Given the description of an element on the screen output the (x, y) to click on. 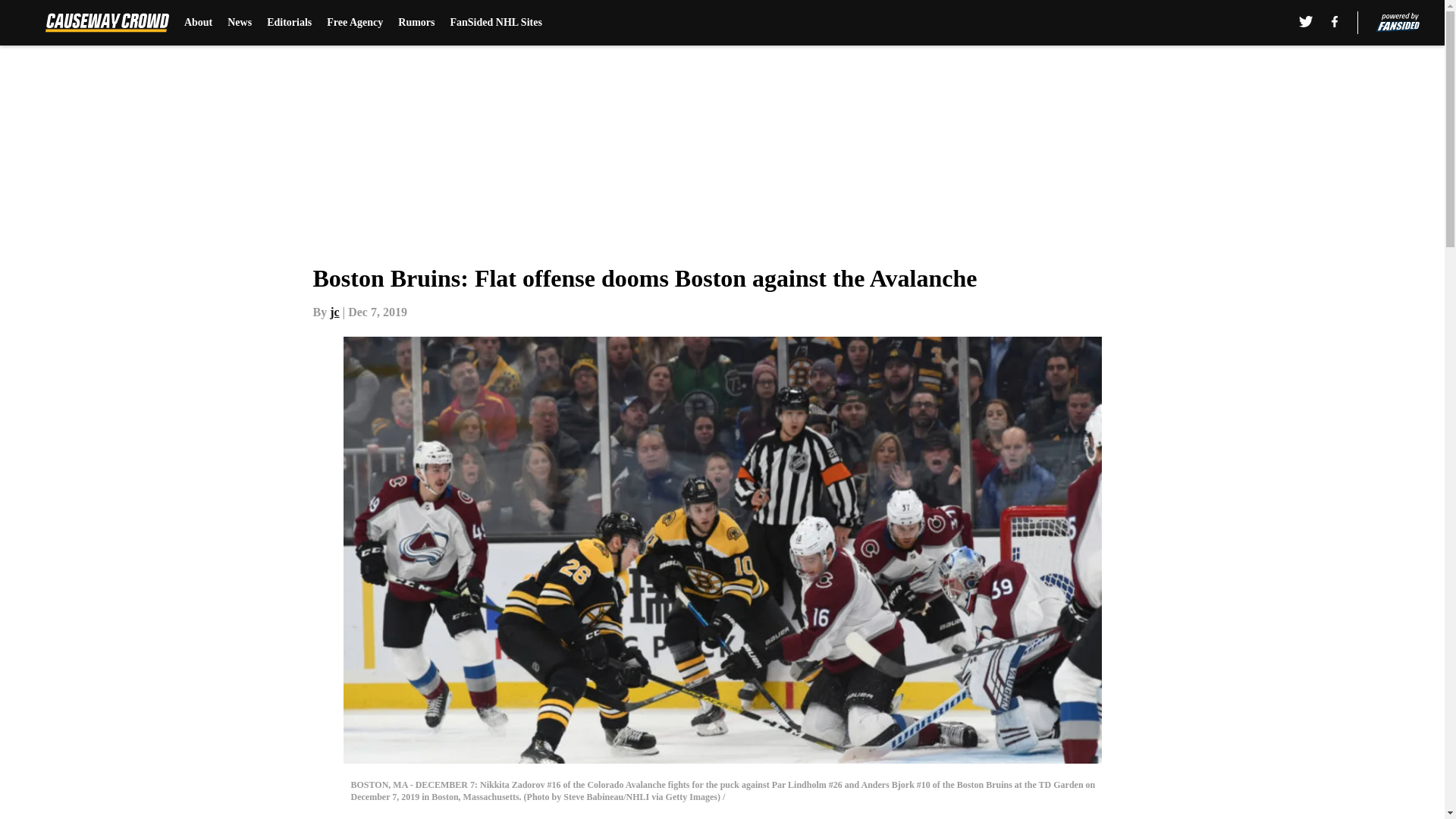
About (198, 22)
FanSided NHL Sites (495, 22)
Editorials (288, 22)
News (239, 22)
Free Agency (354, 22)
Rumors (415, 22)
